Given the description of an element on the screen output the (x, y) to click on. 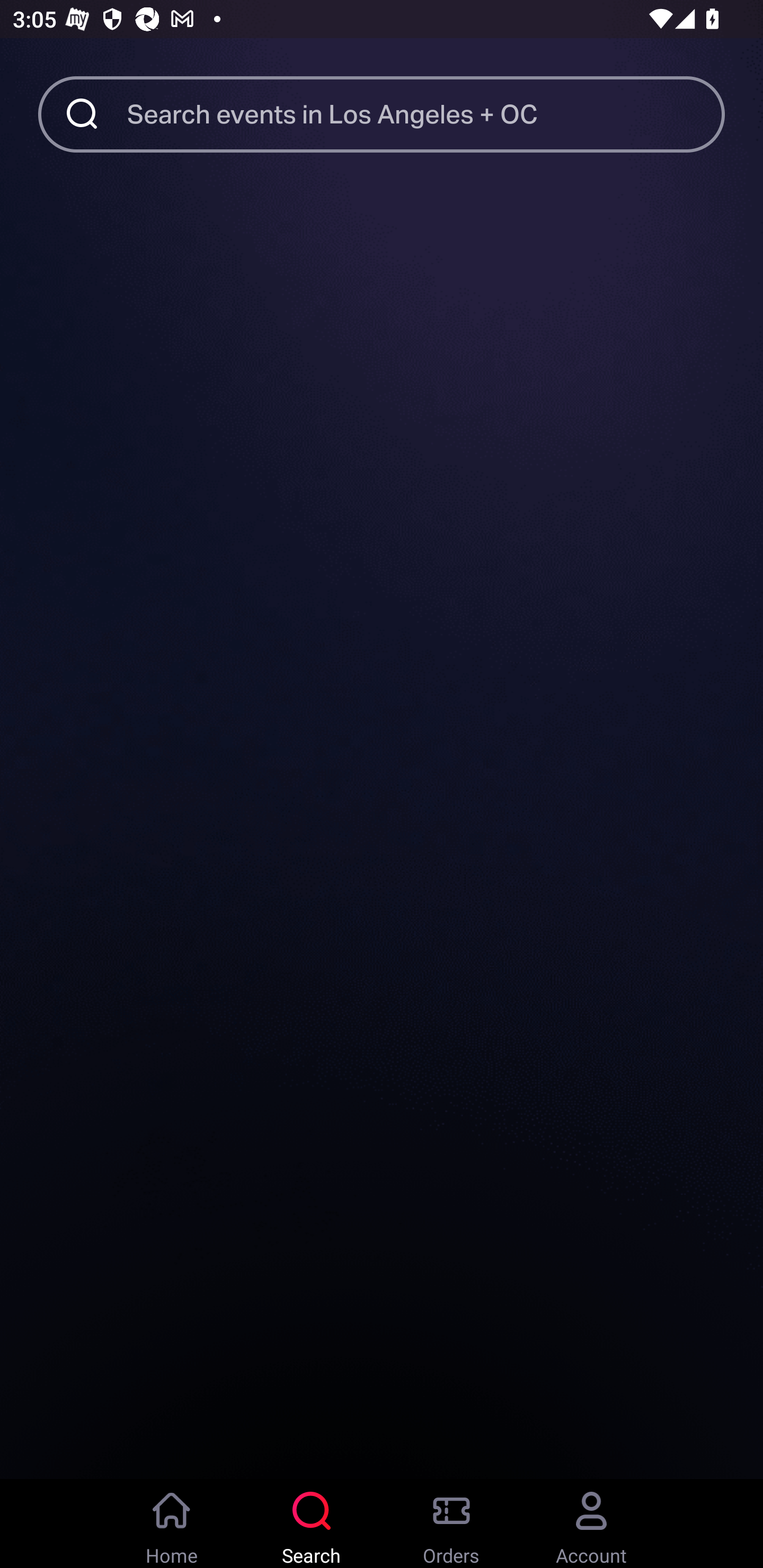
Search events in Los Angeles + OC (425, 113)
Home (171, 1523)
Orders (451, 1523)
Account (591, 1523)
